Given the description of an element on the screen output the (x, y) to click on. 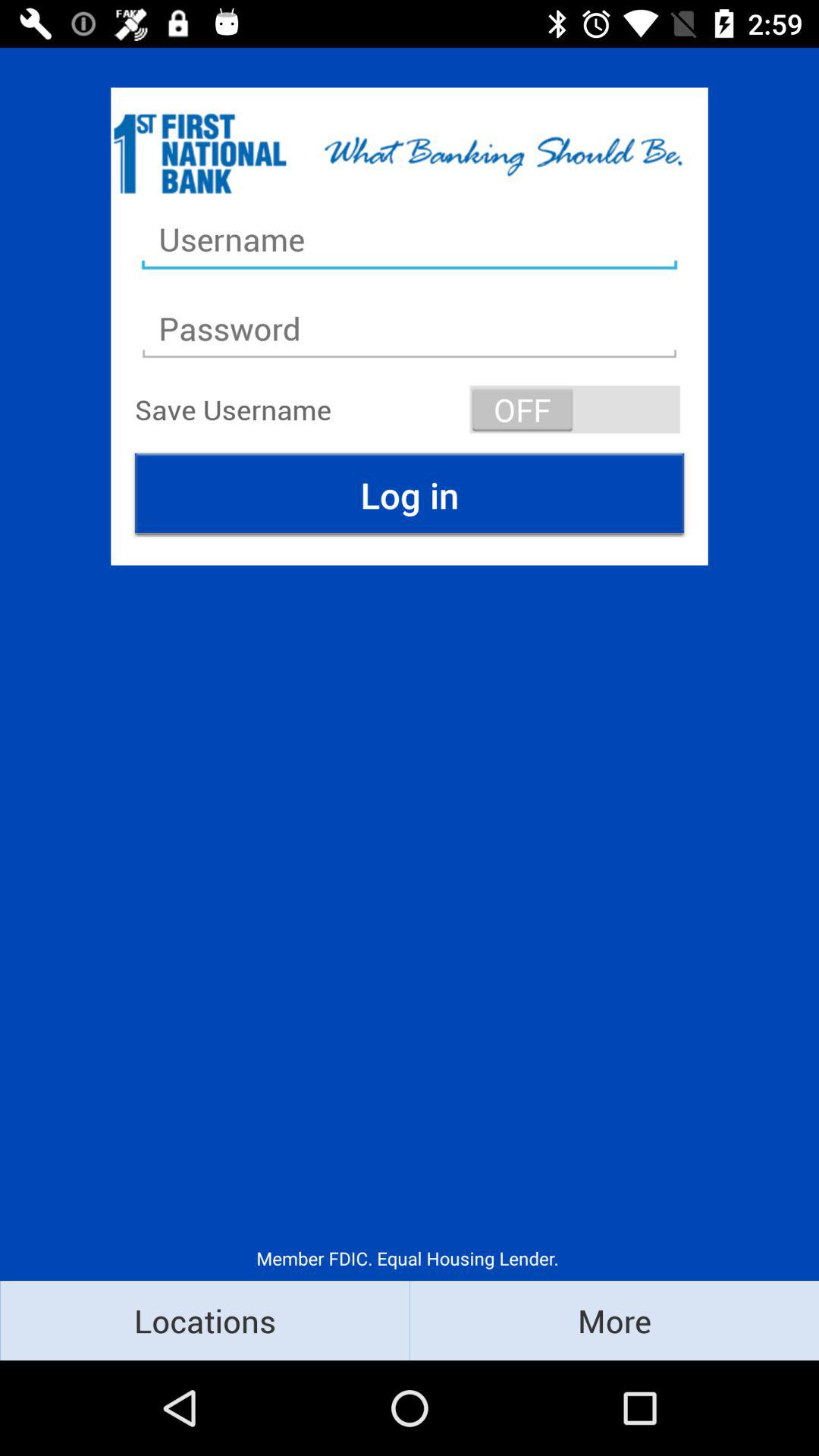
turn on icon at the bottom right corner (614, 1320)
